Given the description of an element on the screen output the (x, y) to click on. 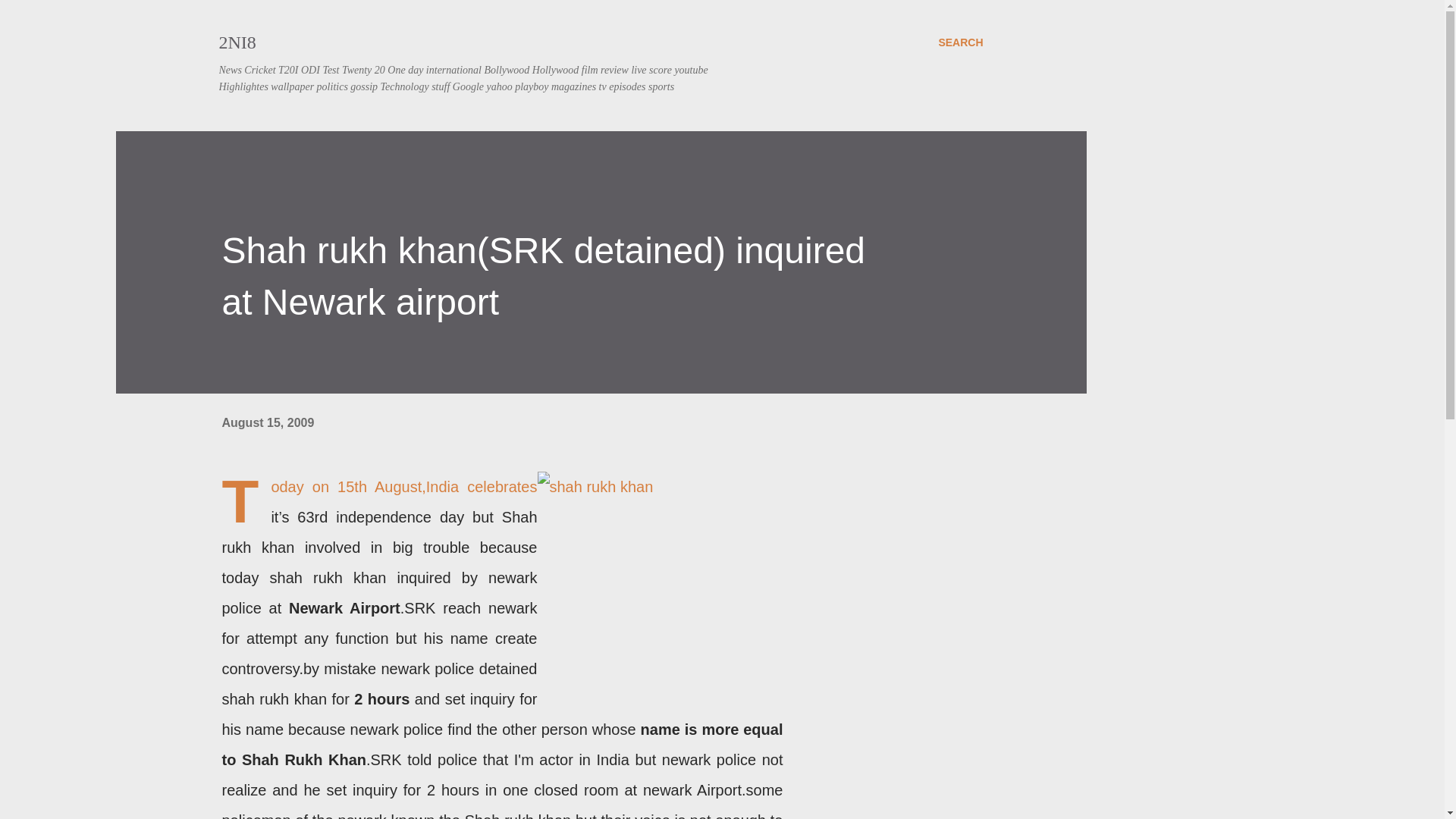
shah rukh khan (660, 586)
August 15, 2009 (267, 422)
permanent link (267, 422)
SEARCH (959, 42)
2NI8 (237, 42)
